Given the description of an element on the screen output the (x, y) to click on. 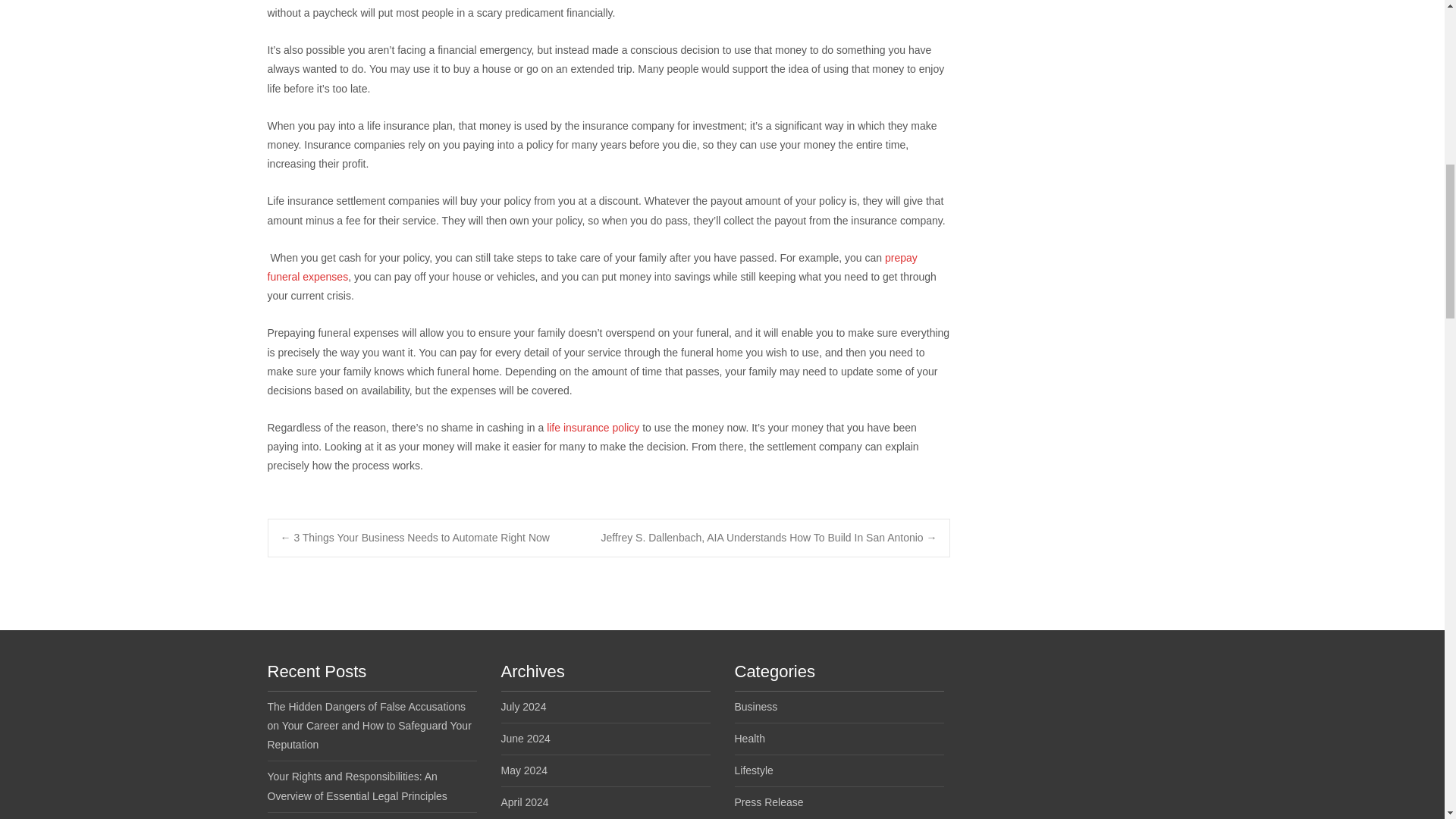
life insurance policy (593, 427)
prepay funeral expenses (591, 266)
